Given the description of an element on the screen output the (x, y) to click on. 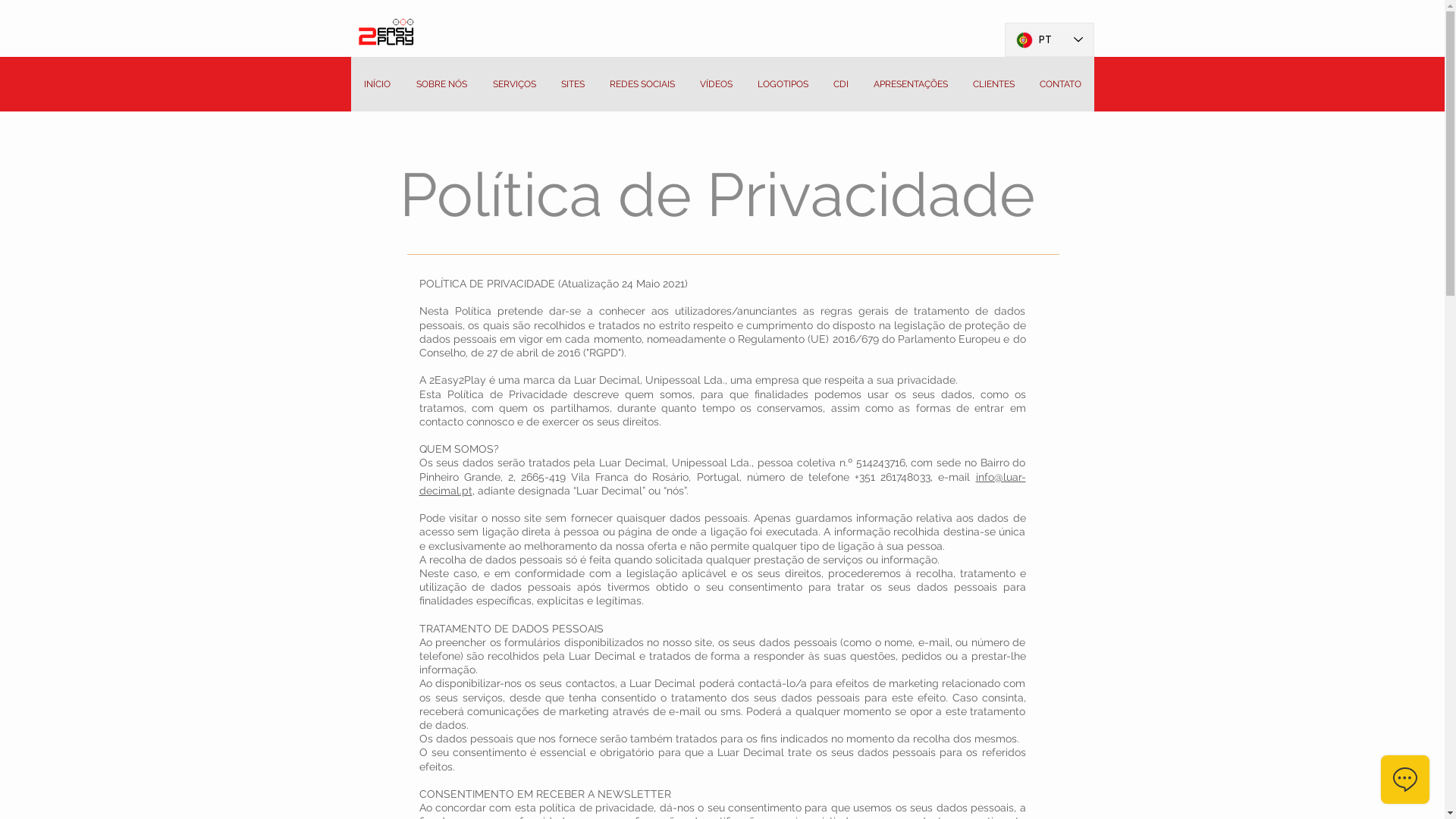
CONTATO Element type: text (1059, 84)
SITES Element type: text (573, 84)
info@luar-decimal.pt Element type: text (721, 483)
CLIENTES Element type: text (993, 84)
LOGOTIPOS Element type: text (782, 84)
CDI Element type: text (840, 84)
REDES SOCIAIS Element type: text (642, 84)
